Given the description of an element on the screen output the (x, y) to click on. 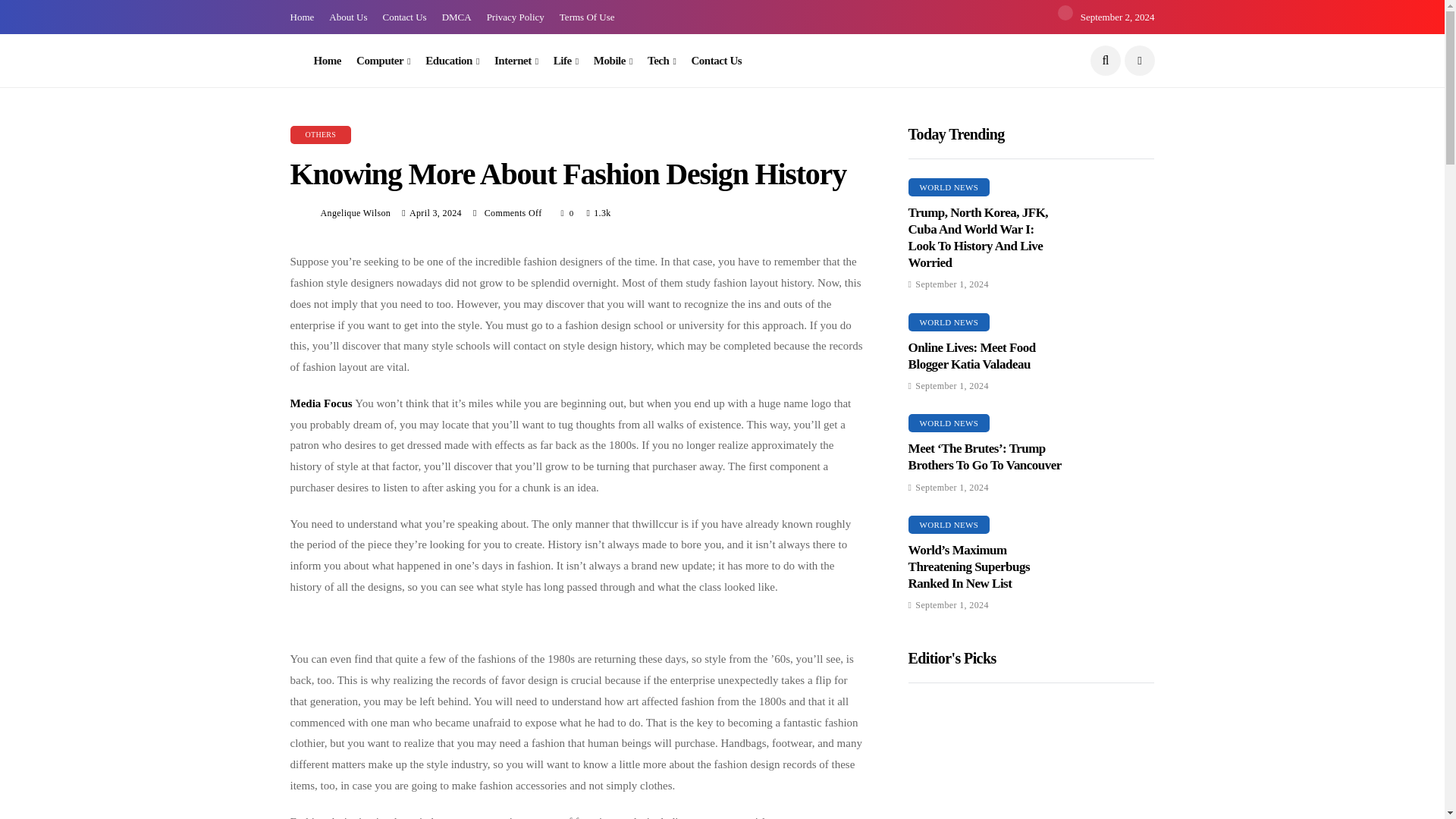
Terms Of Use (586, 17)
Posts by Angelique Wilson (355, 213)
Education (452, 60)
Like (567, 212)
About Us (347, 17)
Contact Us (403, 17)
Privacy Policy (515, 17)
Computer (383, 60)
